Given the description of an element on the screen output the (x, y) to click on. 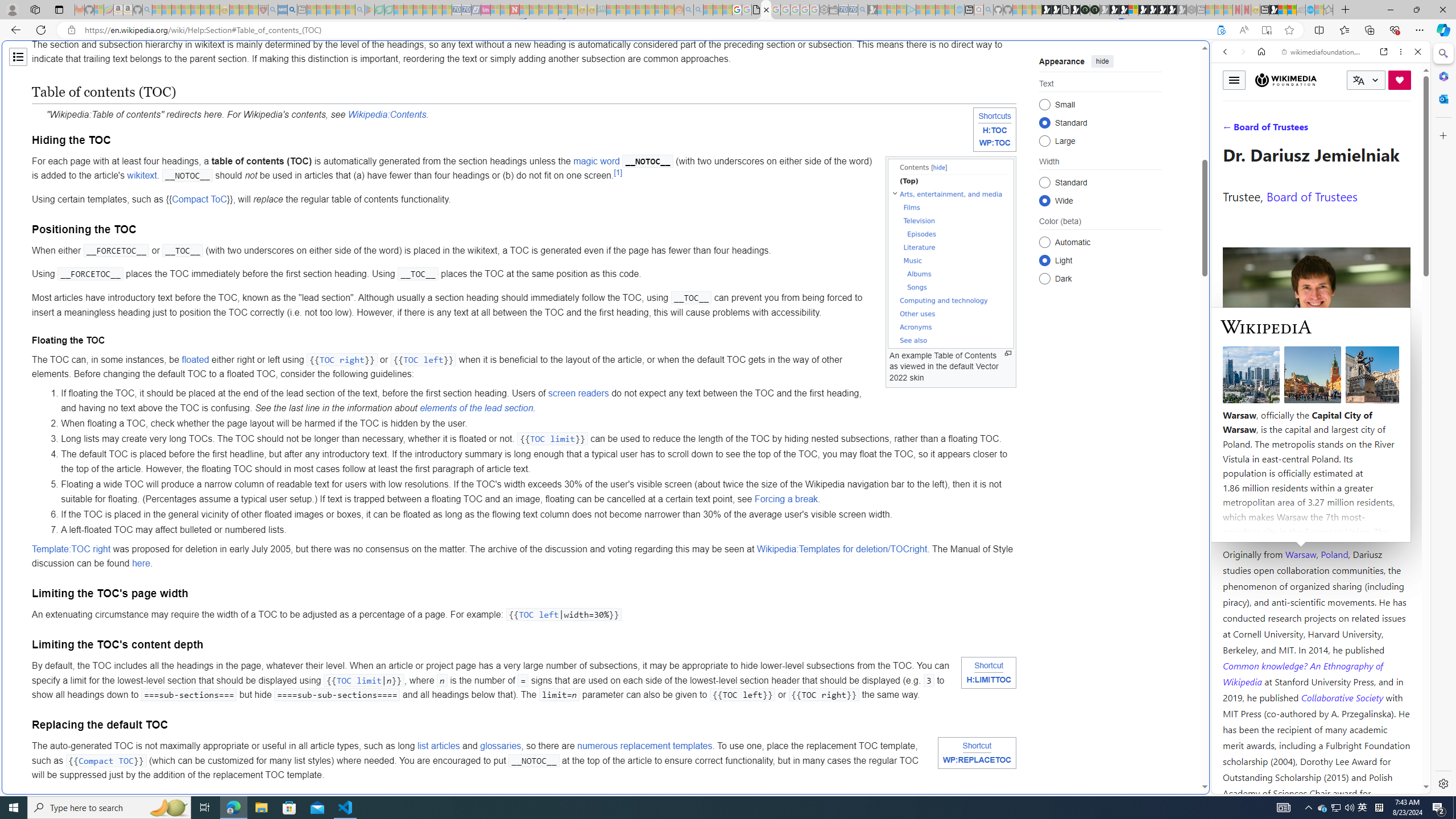
Wikipedia:Contents (386, 113)
Collaborative Society  (1343, 697)
Local - MSN - Sleeping (253, 9)
New Report Confirms 2023 Was Record Hot | Watch - Sleeping (195, 9)
Favorites - Sleeping (1328, 9)
here (141, 563)
Preferences (1403, 129)
Donate now (1399, 80)
google_privacy_policy_zh-CN.pdf (755, 9)
